Given the description of an element on the screen output the (x, y) to click on. 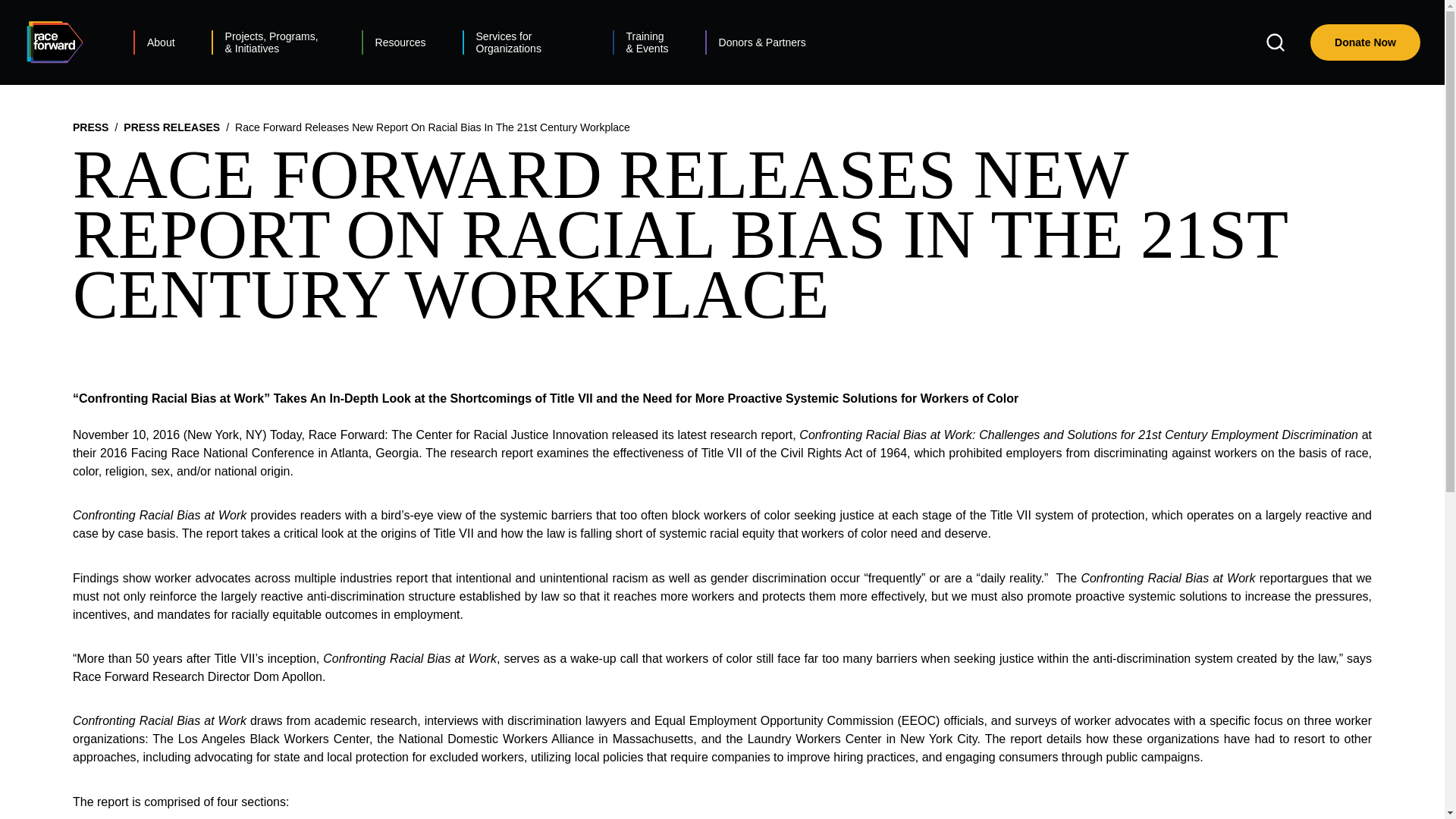
Donate Now (1365, 42)
Open Search (1275, 42)
